Given the description of an element on the screen output the (x, y) to click on. 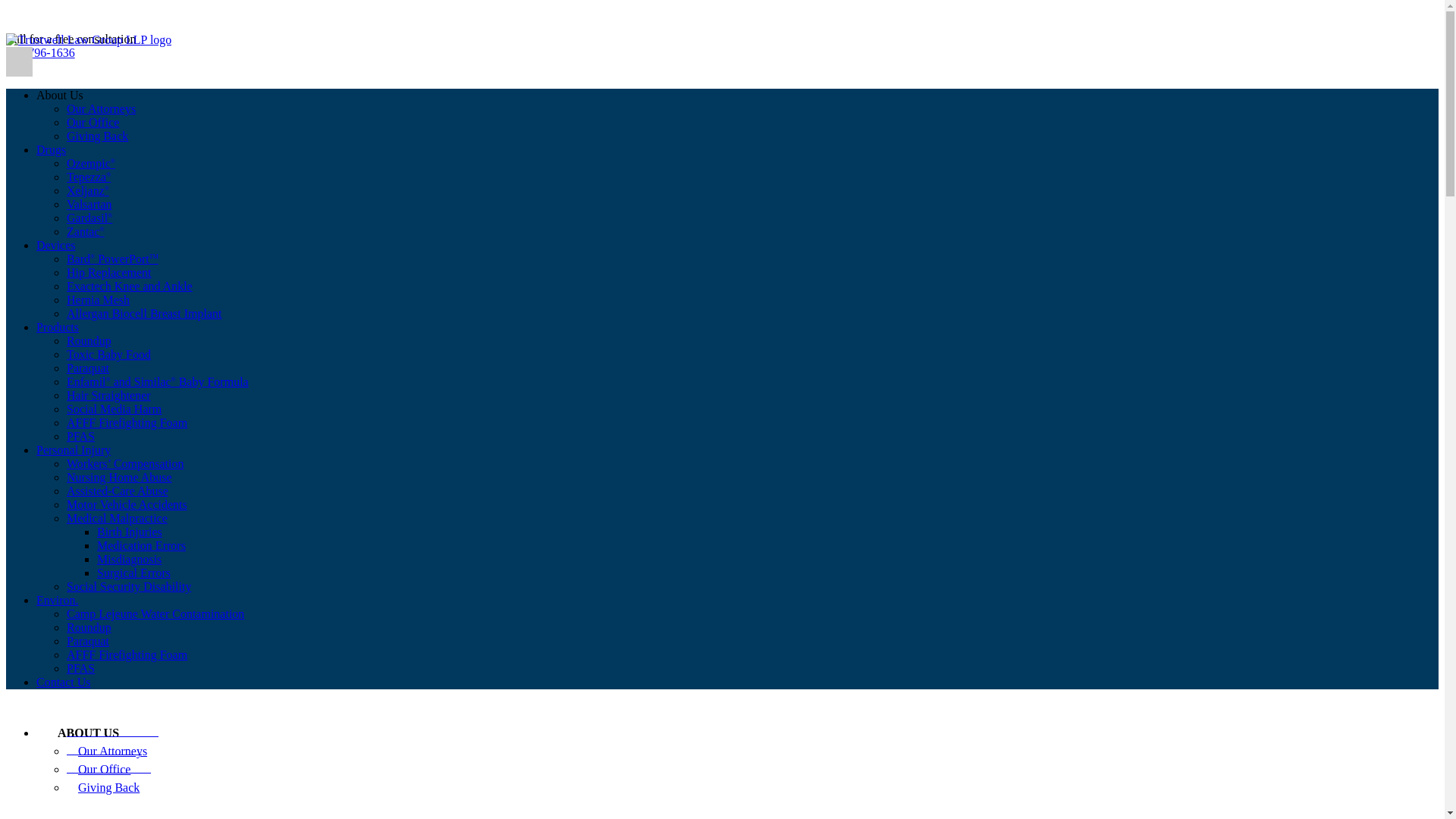
Valsartan (89, 204)
Medical Malpractice (116, 517)
Devices (55, 245)
Exactech Knee and Ankle (129, 286)
Misdiagnosis (129, 558)
Open Menu (18, 61)
Toxic Baby Food (108, 354)
Hernia Mesh (97, 299)
Birth Injuries (129, 531)
Social Security Disability (128, 585)
Our Office (92, 122)
About Us (59, 94)
Roundup (89, 340)
Personal Injury (73, 449)
Medication Errors (141, 545)
